Given the description of an element on the screen output the (x, y) to click on. 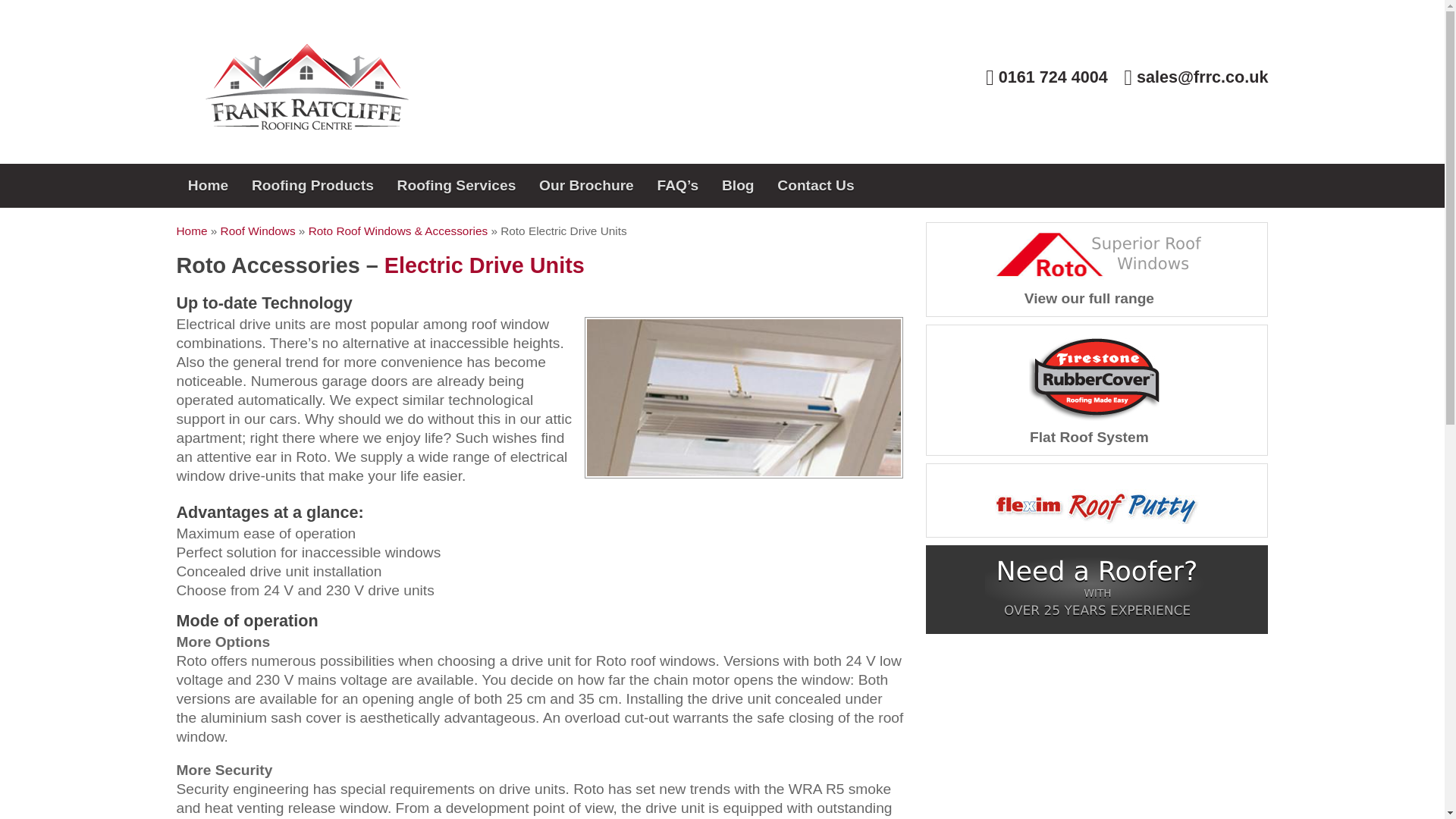
Roofing Products (312, 185)
Home (208, 185)
Frank Ratcliffe Roofing Centre (307, 124)
0161 724 4004 (1046, 76)
